Given the description of an element on the screen output the (x, y) to click on. 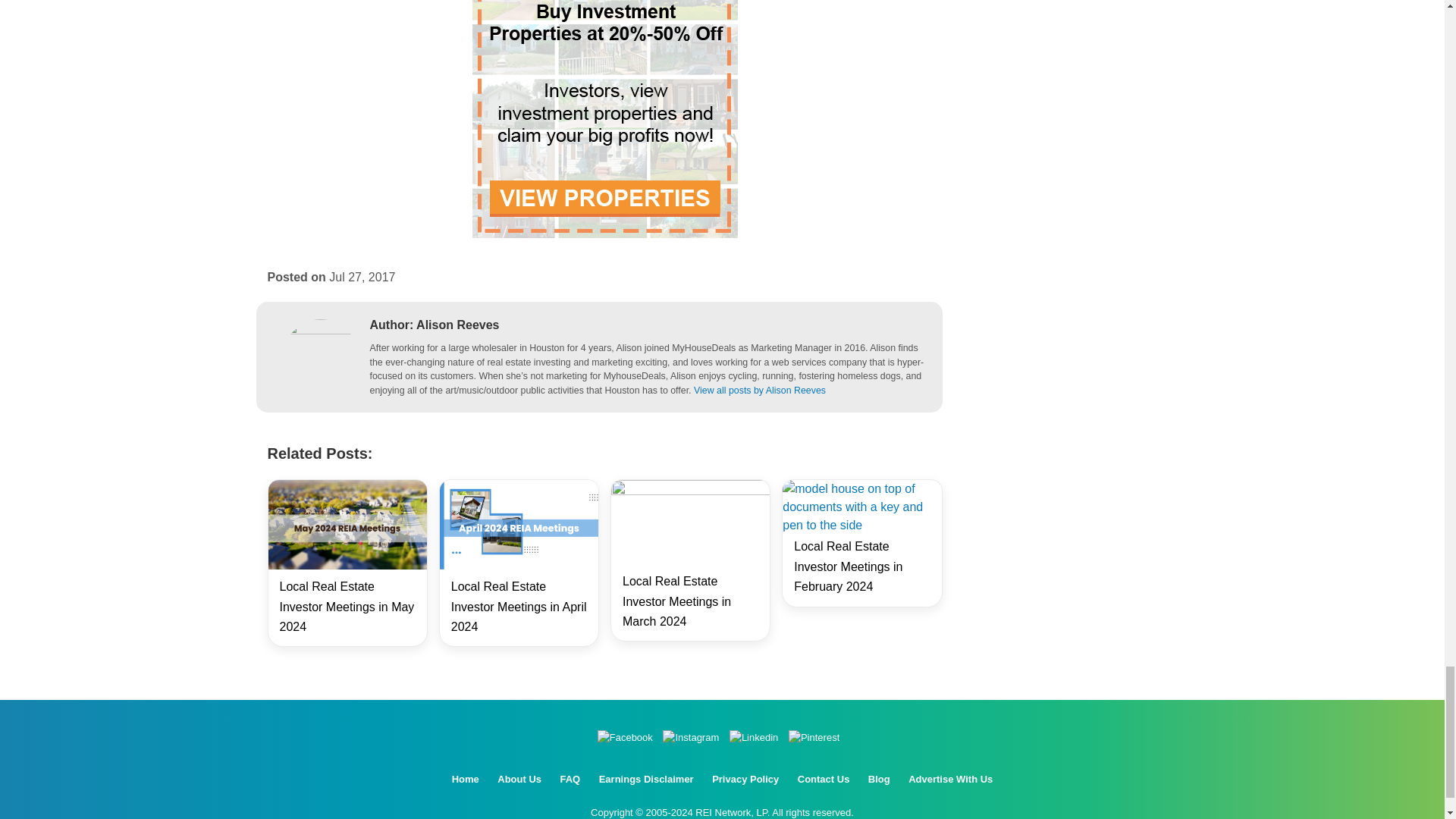
View all posts by Alison Reeves (759, 389)
